Given the description of an element on the screen output the (x, y) to click on. 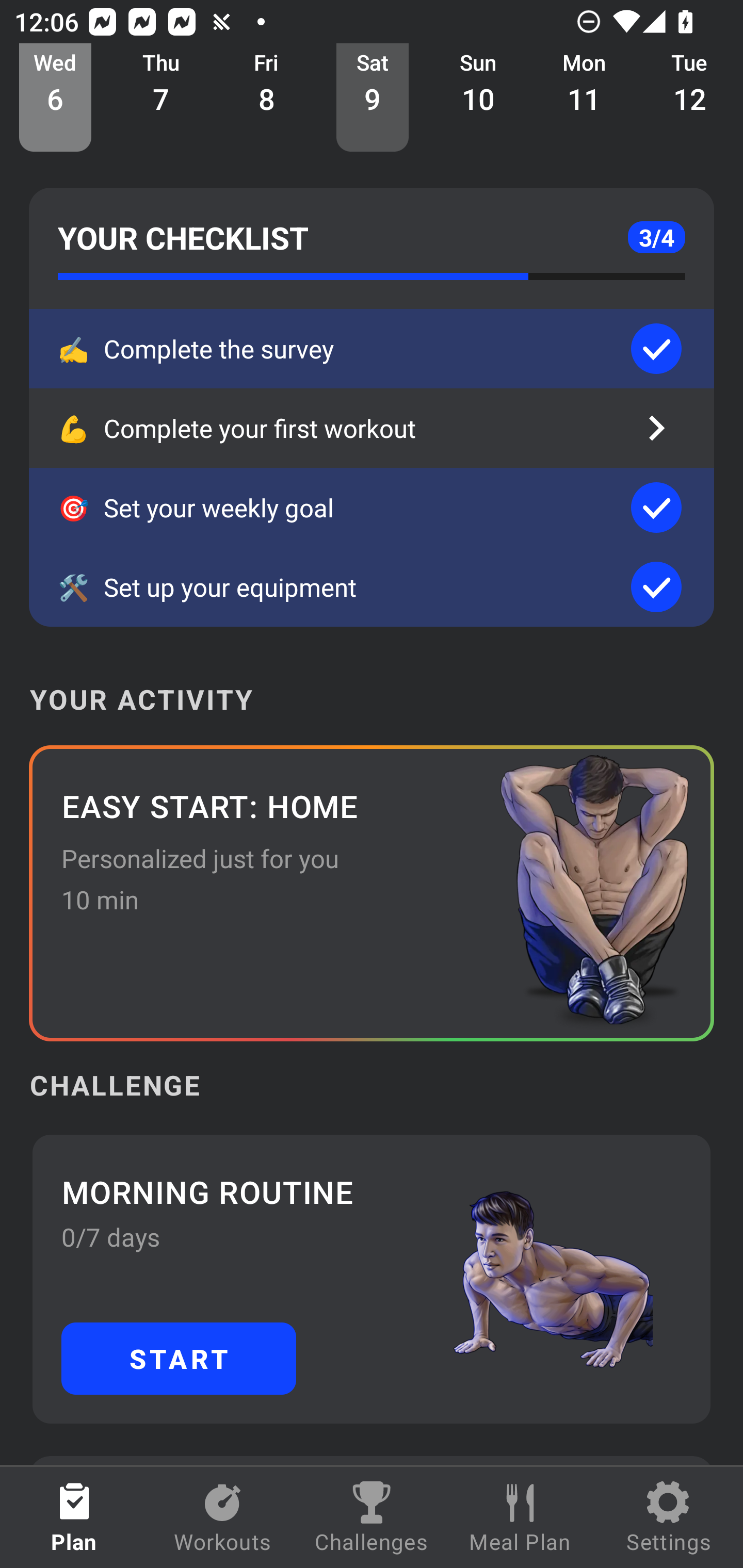
Wed 6 (55, 97)
Thu 7 (160, 97)
Fri 8 (266, 97)
Sat 9 (372, 97)
Sun 10 (478, 97)
Mon 11 (584, 97)
Tue 12 (690, 97)
💪 Complete your first workout (371, 427)
EASY START: HOME Personalized just for you 10 min (371, 892)
MORNING ROUTINE 0/7 days START (371, 1278)
START (178, 1357)
 Workouts  (222, 1517)
 Challenges  (371, 1517)
 Meal Plan  (519, 1517)
 Settings  (668, 1517)
